Given the description of an element on the screen output the (x, y) to click on. 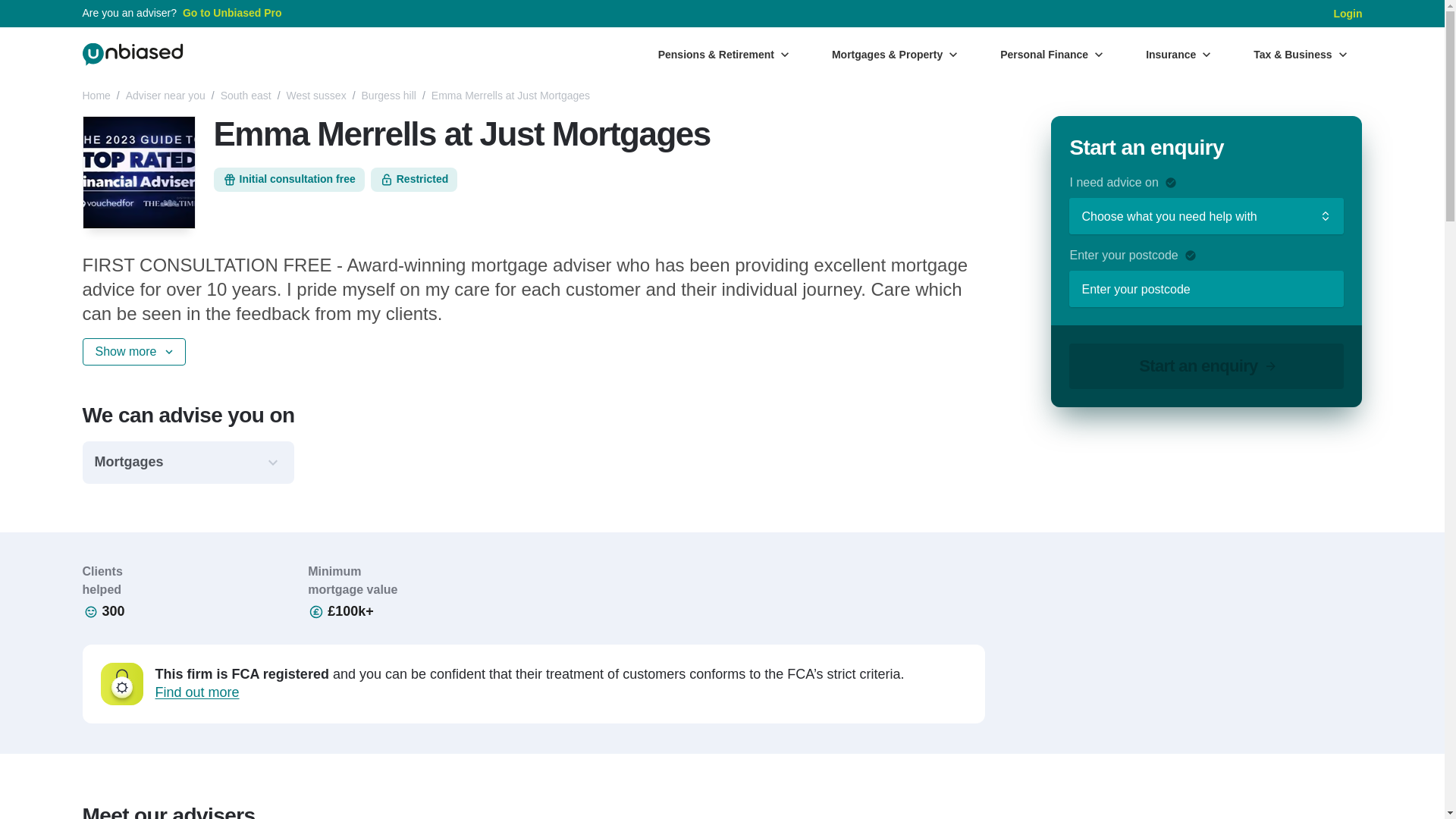
Burgess hill (388, 95)
West sussex (316, 95)
Personal Finance (1051, 54)
Insurance (1178, 54)
Login (1347, 14)
Mortgages (187, 462)
Start an enquiry (1205, 366)
Show more (133, 351)
Go to Unbiased Pro (232, 13)
Find out more (196, 692)
South east (245, 95)
Home (95, 95)
Adviser near you (165, 95)
